Given the description of an element on the screen output the (x, y) to click on. 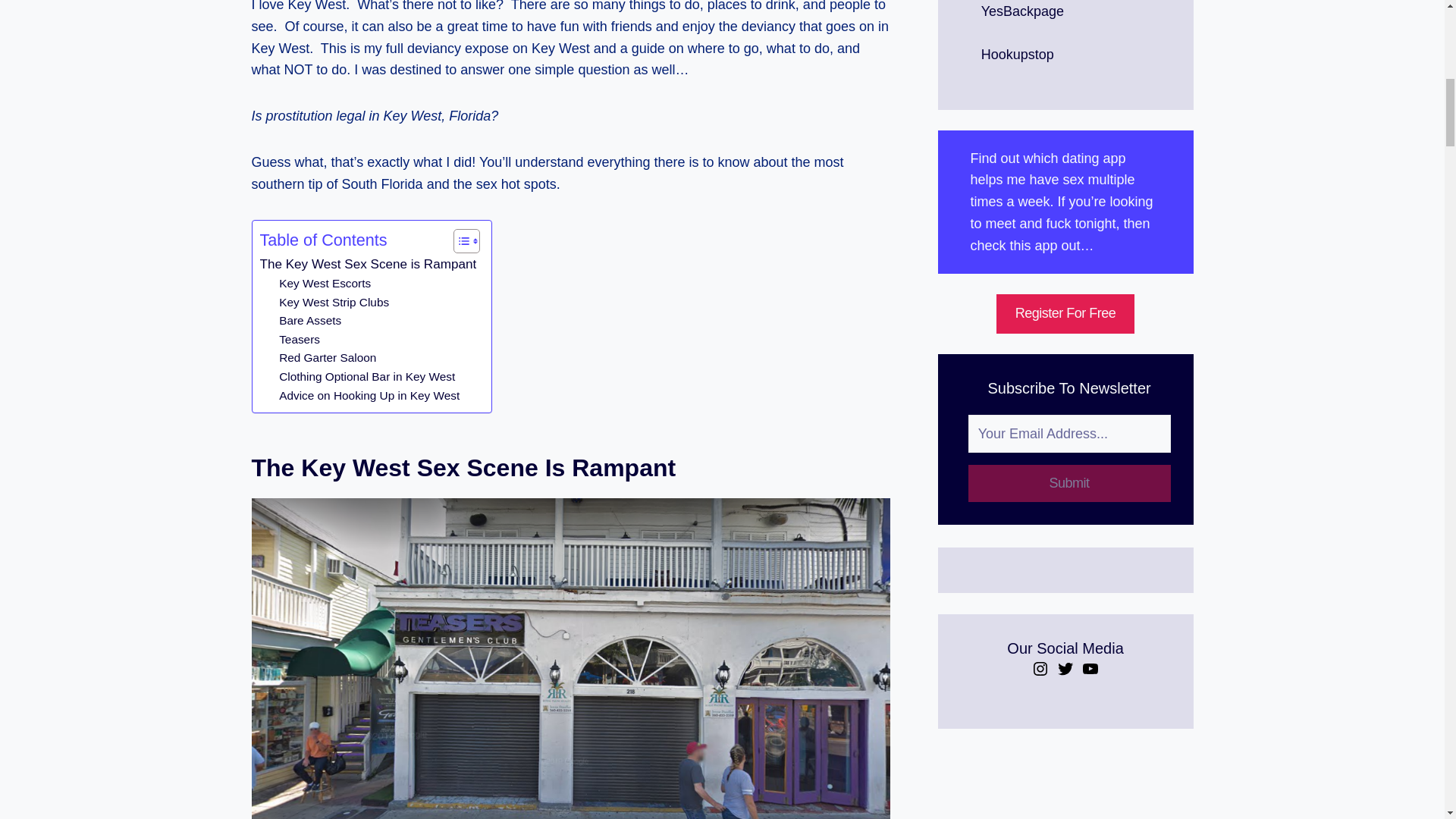
The Key West Sex Scene is Rampant (367, 263)
Advice on Hooking Up in Key West (369, 395)
Teasers (299, 339)
Key West Strip Clubs (333, 302)
Red Garter Saloon (327, 357)
The Key West Sex Scene is Rampant (367, 263)
Bare Assets (309, 321)
Clothing Optional Bar in Key West (366, 376)
Key West Strip Clubs (333, 302)
Key West Escorts (325, 283)
